Given the description of an element on the screen output the (x, y) to click on. 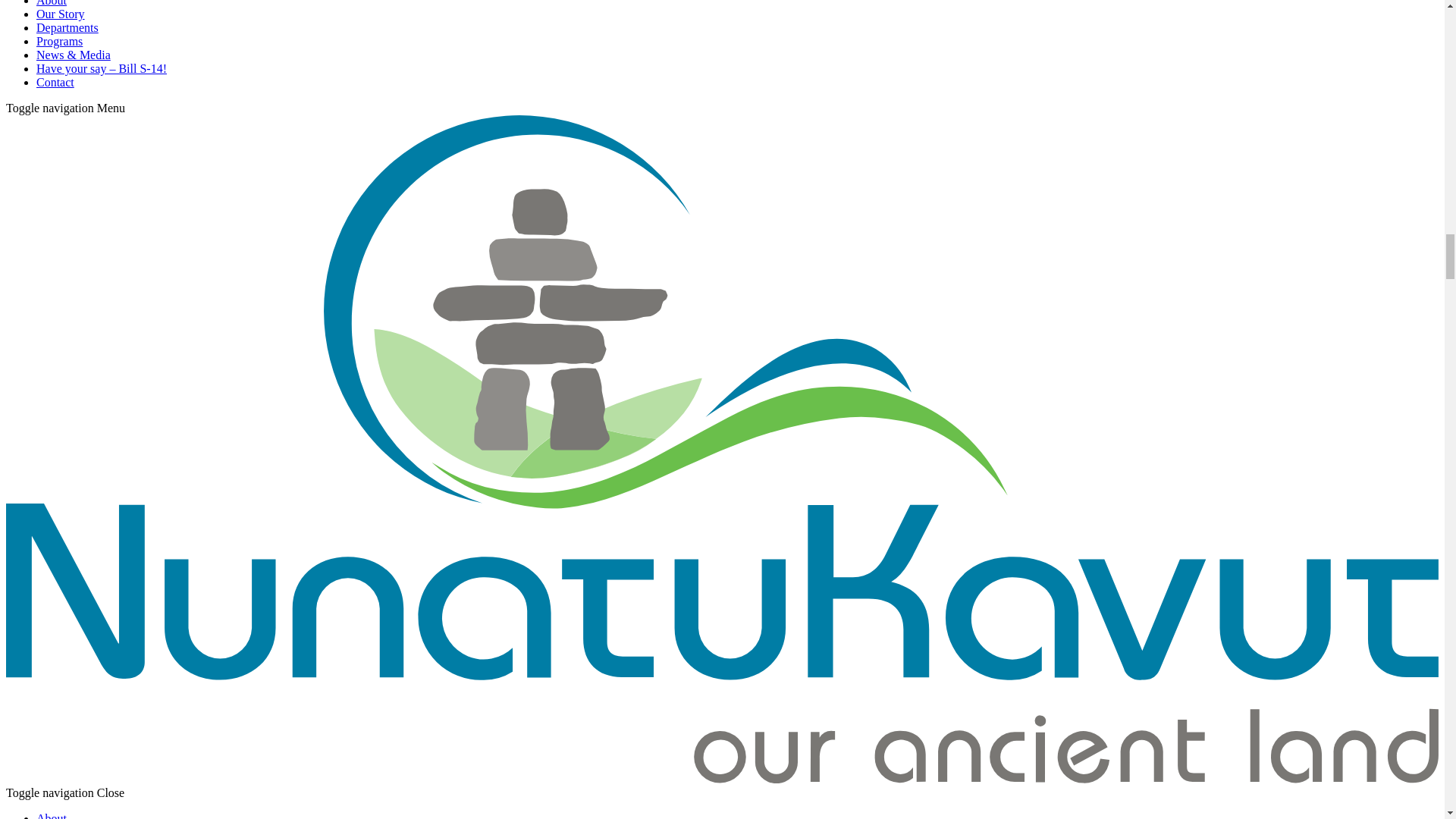
About (51, 3)
Toggle navigation Close (64, 791)
Our Story (60, 13)
Programs (59, 41)
Departments (67, 27)
Toggle navigation Menu (65, 107)
About (51, 815)
Contact (55, 82)
